Given the description of an element on the screen output the (x, y) to click on. 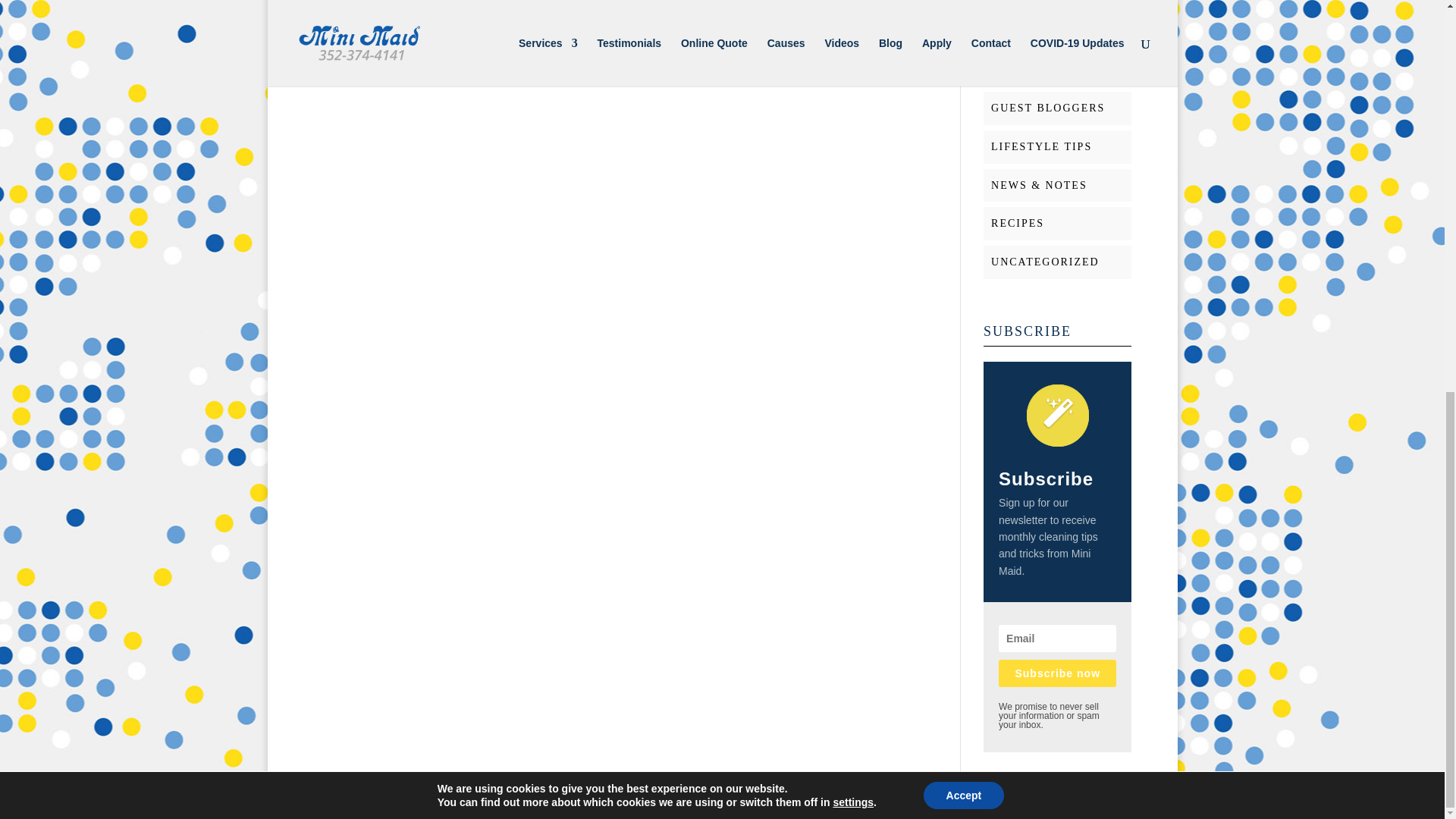
GUEST BLOGGERS (1048, 107)
CLEANING TIPS (1040, 69)
LIFESTYLE TIPS (1041, 146)
RECIPES (1017, 223)
